Given the description of an element on the screen output the (x, y) to click on. 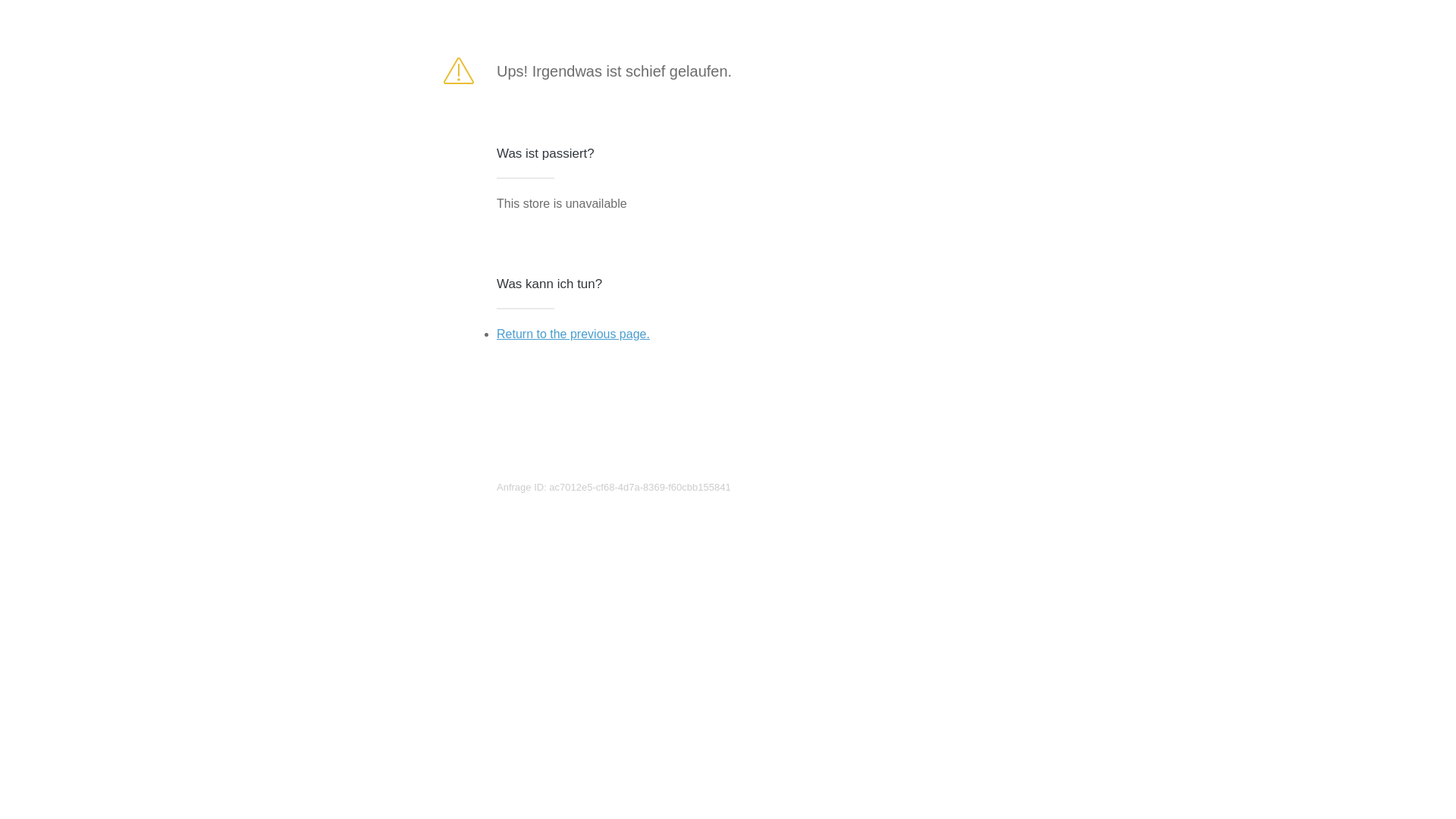
Return to the previous page. Element type: text (572, 333)
